Given the description of an element on the screen output the (x, y) to click on. 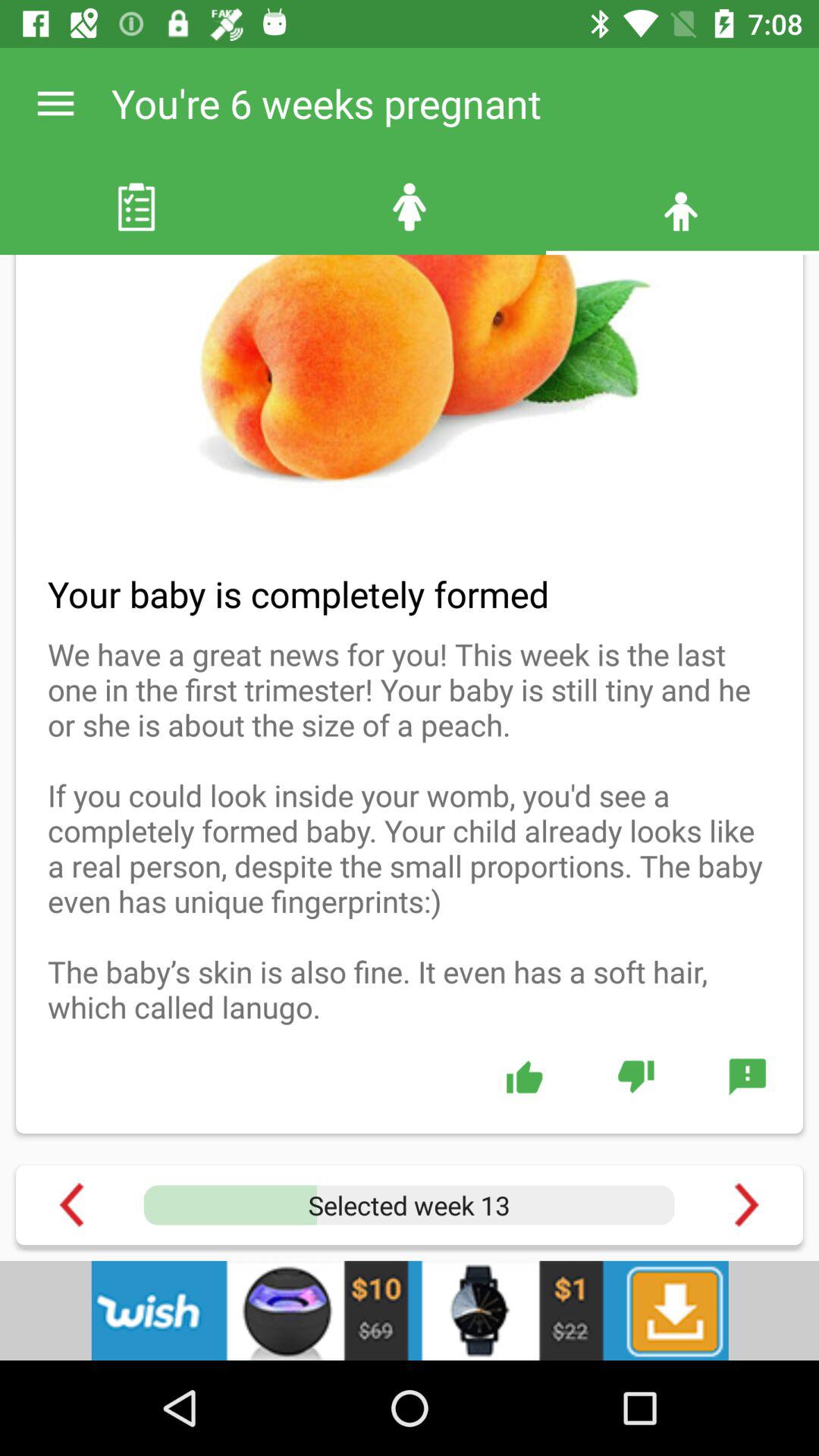
next to the option (746, 1204)
